Given the description of an element on the screen output the (x, y) to click on. 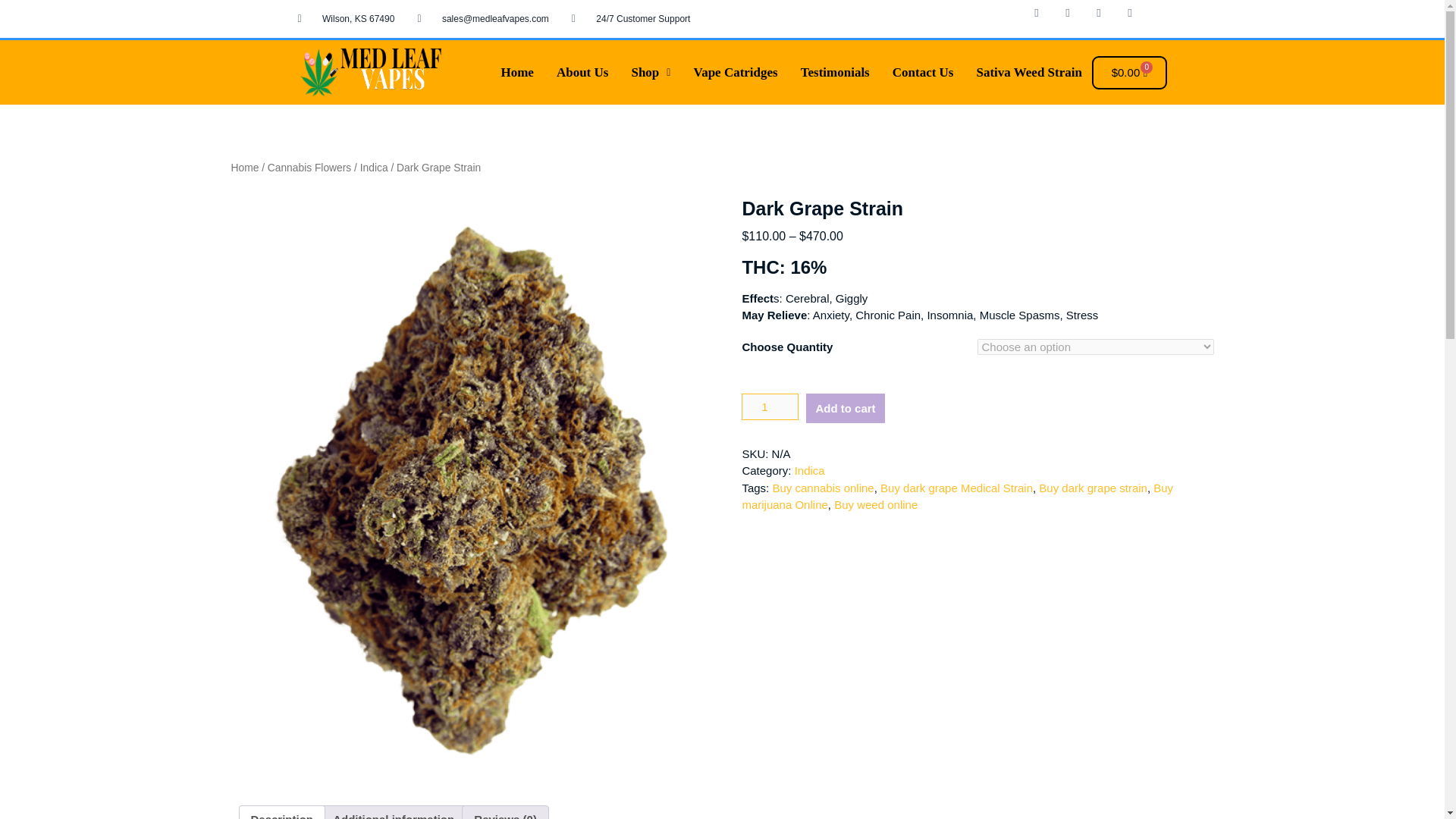
Additional information (393, 812)
Contact Us (922, 72)
Buy dark grape Medical Strain (956, 487)
About Us (582, 72)
Home (244, 167)
Description (281, 812)
Shop (650, 72)
Buy dark grape strain (1093, 487)
Vape Catridges (735, 72)
Add to cart (844, 408)
Buy marijuana Online (957, 496)
Indica (373, 167)
Cannabis Flowers (308, 167)
Buy cannabis online (822, 487)
Indica (809, 470)
